Given the description of an element on the screen output the (x, y) to click on. 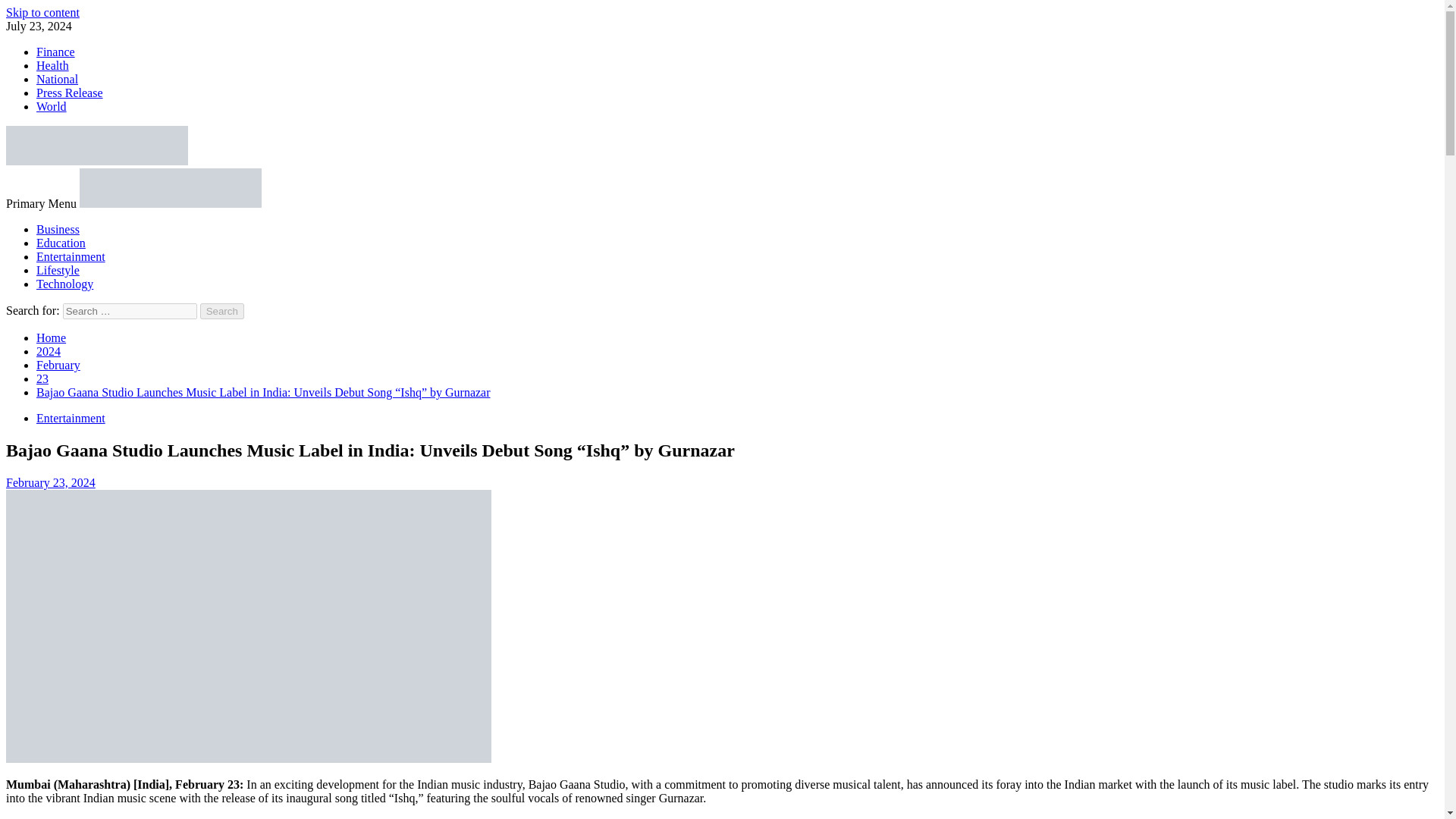
Business (58, 228)
Education (60, 242)
Search (222, 311)
Entertainment (70, 418)
Home (50, 337)
February (58, 364)
Skip to content (42, 11)
Health (52, 65)
Lifestyle (58, 269)
Search (222, 311)
Search (222, 311)
National (57, 78)
Finance (55, 51)
Entertainment (70, 256)
Press Release (69, 92)
